Given the description of an element on the screen output the (x, y) to click on. 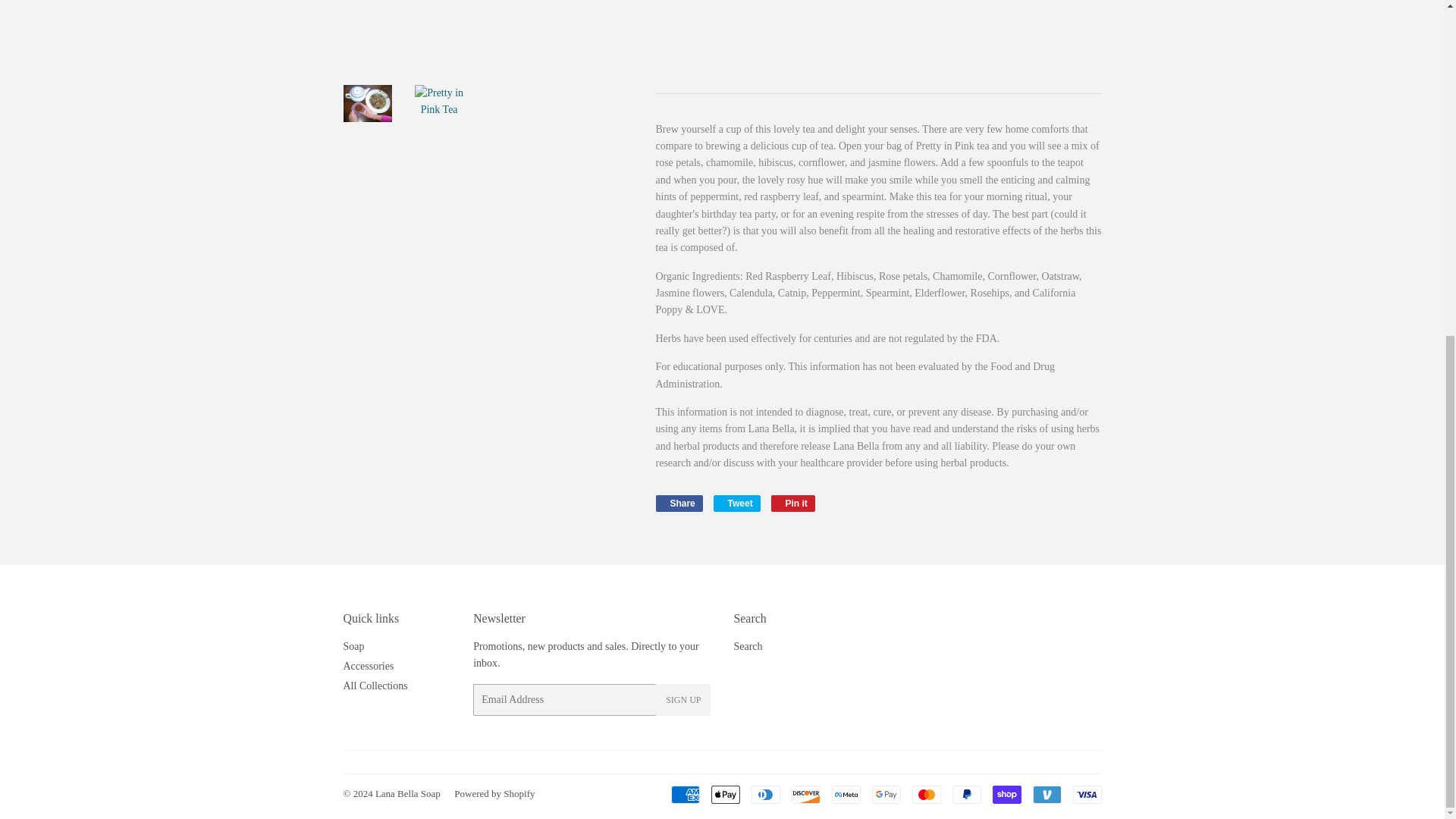
Diners Club (764, 794)
Google Pay (793, 503)
Search (886, 794)
Lana Bella Soap (736, 503)
Meta Pay (747, 645)
Accessories (408, 793)
Share on Facebook (845, 794)
American Express (367, 665)
Tweet on Twitter (678, 503)
Shop Pay (683, 794)
Venmo (736, 503)
Mastercard (1005, 794)
Pin on Pinterest (1046, 794)
